Given the description of an element on the screen output the (x, y) to click on. 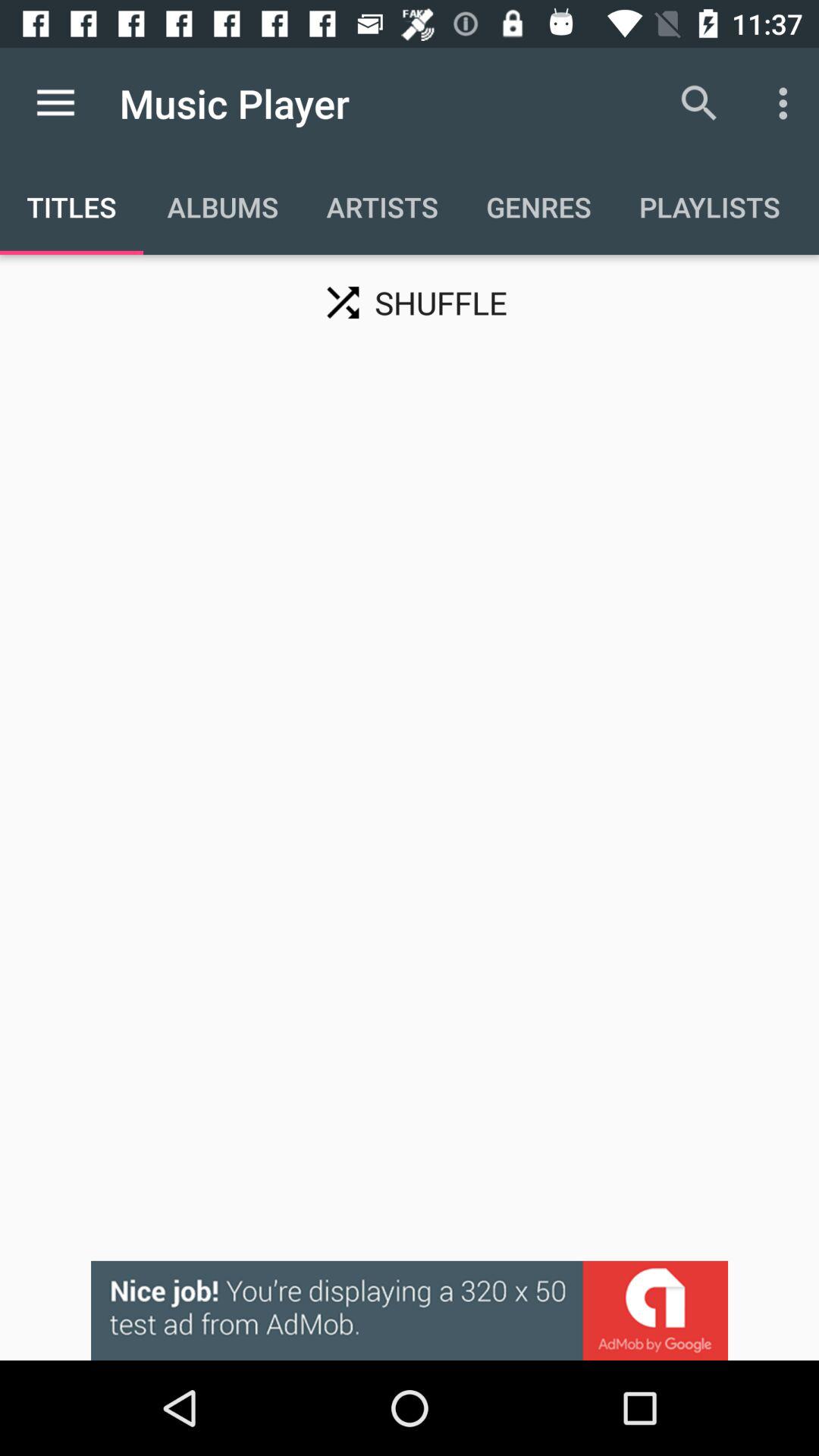
click advertisement (409, 1310)
